Given the description of an element on the screen output the (x, y) to click on. 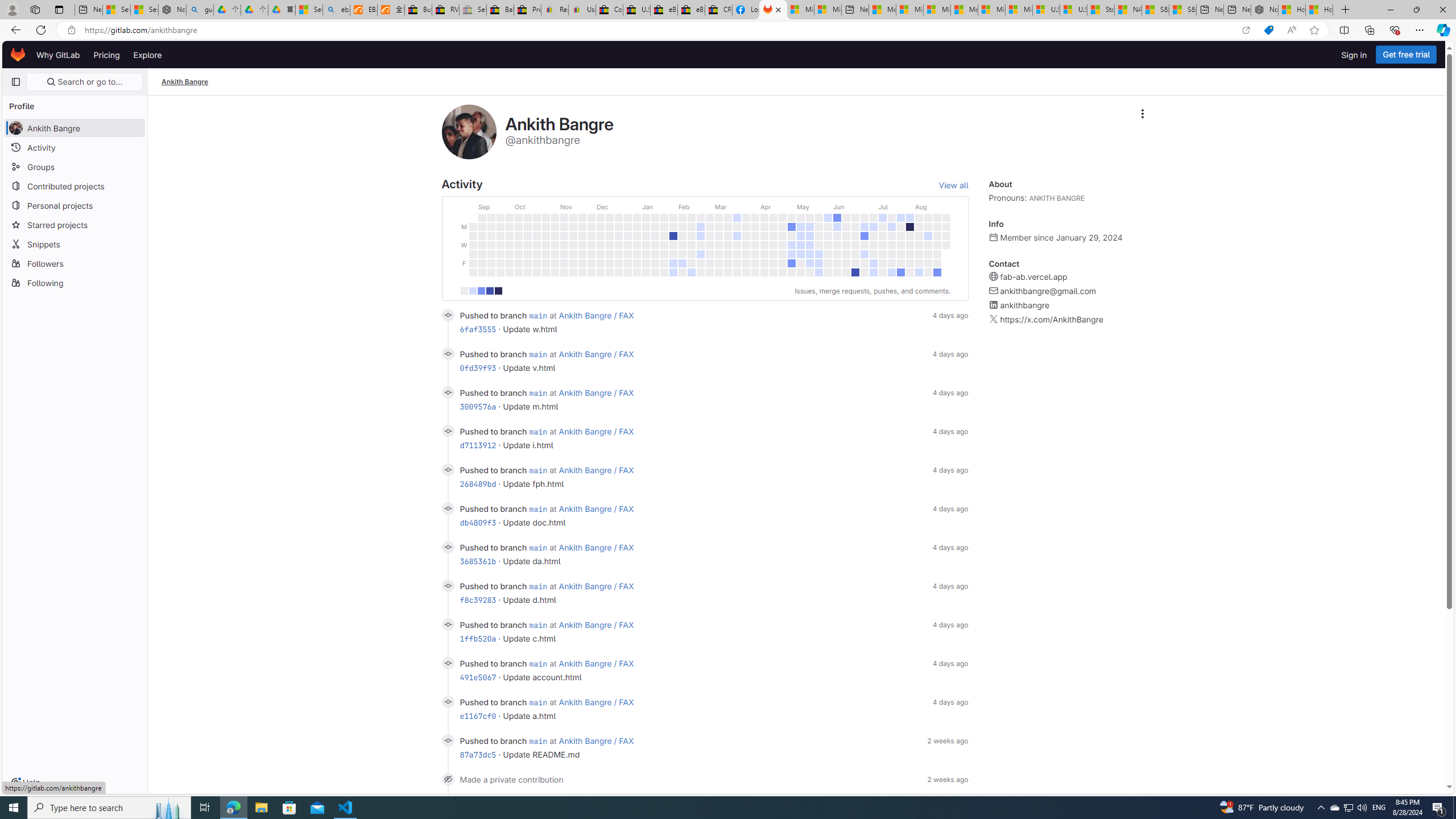
Class: s14 icon (448, 778)
